Given the description of an element on the screen output the (x, y) to click on. 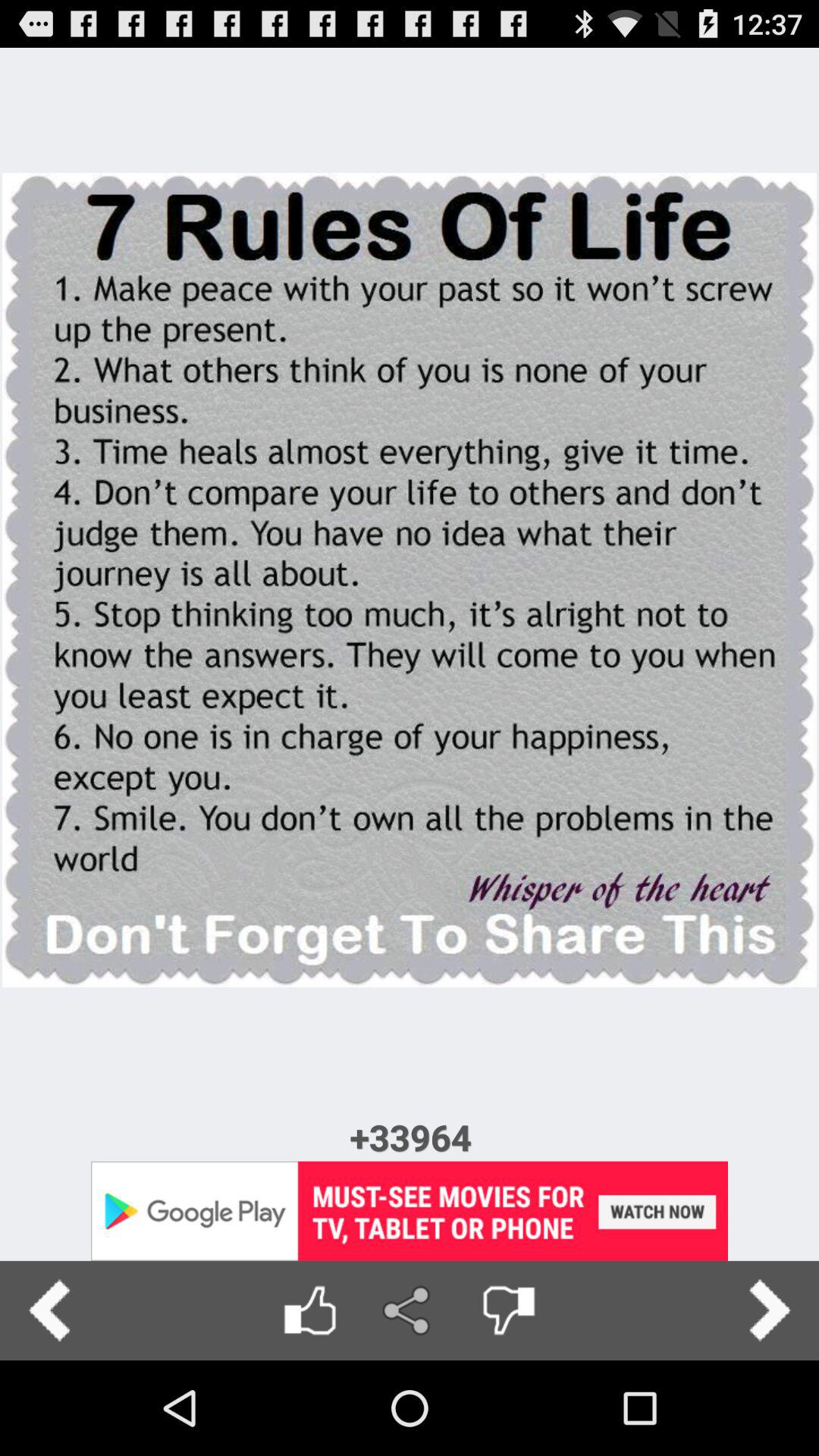
put like (309, 1310)
